Given the description of an element on the screen output the (x, y) to click on. 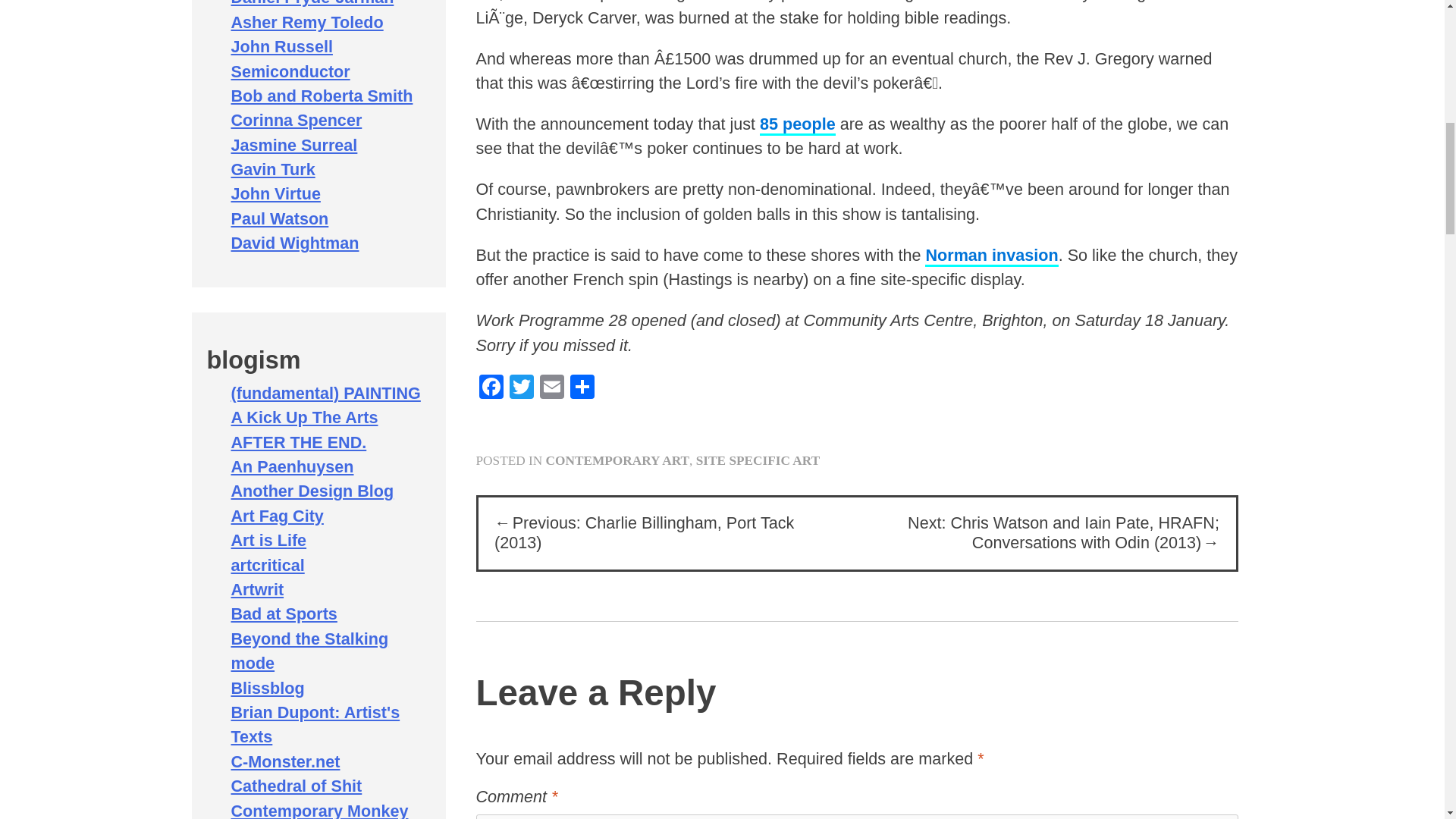
SITE SPECIFIC ART (757, 460)
Email (552, 388)
Norman invasion (991, 255)
85 people (797, 124)
Facebook (491, 388)
Facebook (491, 388)
CONTEMPORARY ART (618, 460)
Twitter (521, 388)
Twitter (521, 388)
Email (552, 388)
